Given the description of an element on the screen output the (x, y) to click on. 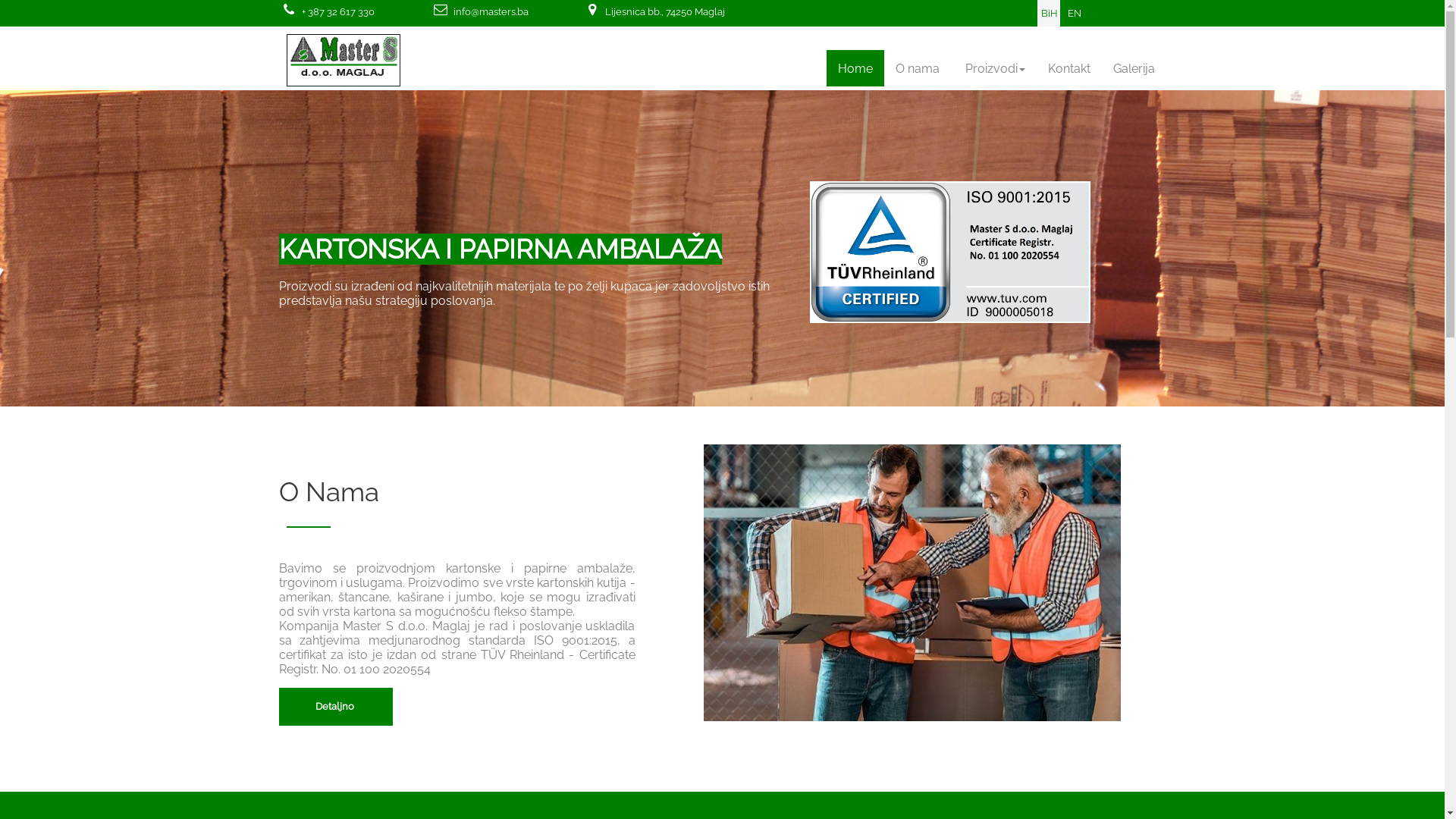
Proizvodi Element type: text (994, 68)
Detaljno  Element type: text (335, 706)
BiH Element type: text (1048, 13)
  Element type: text (440, 9)
  Element type: text (592, 9)
O nama  Element type: text (918, 68)
  Element type: text (288, 9)
Home Element type: text (855, 68)
Kontakt Element type: text (1068, 68)
Galerija Element type: text (1133, 68)
EN Element type: text (1074, 13)
